Given the description of an element on the screen output the (x, y) to click on. 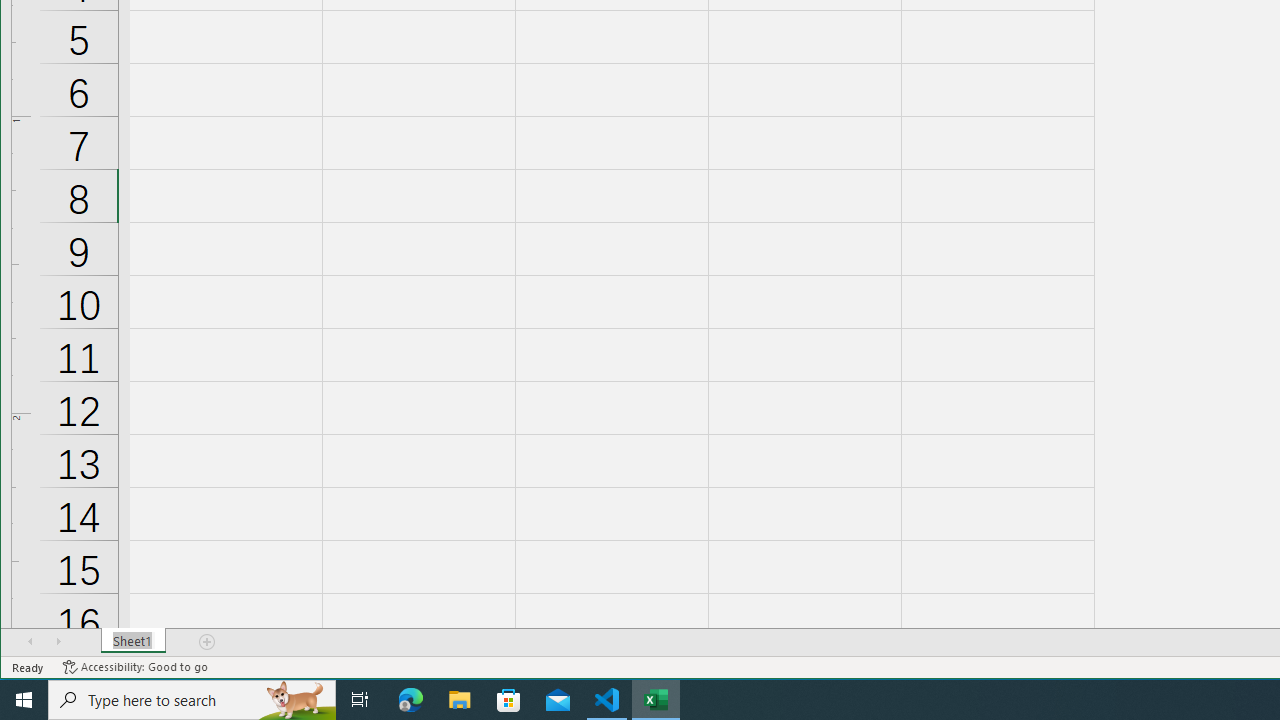
Start (24, 699)
File Explorer (460, 699)
Sheet1 (133, 641)
Visual Studio Code - 1 running window (607, 699)
Excel - 1 running window (656, 699)
Type here to search (191, 699)
Task View (359, 699)
Add Sheet (207, 641)
Microsoft Store (509, 699)
Accessibility Checker Accessibility: Good to go (135, 667)
Sheet Tab (133, 641)
Scroll Left (30, 641)
Scroll Right (58, 641)
Microsoft Edge (411, 699)
